Given the description of an element on the screen output the (x, y) to click on. 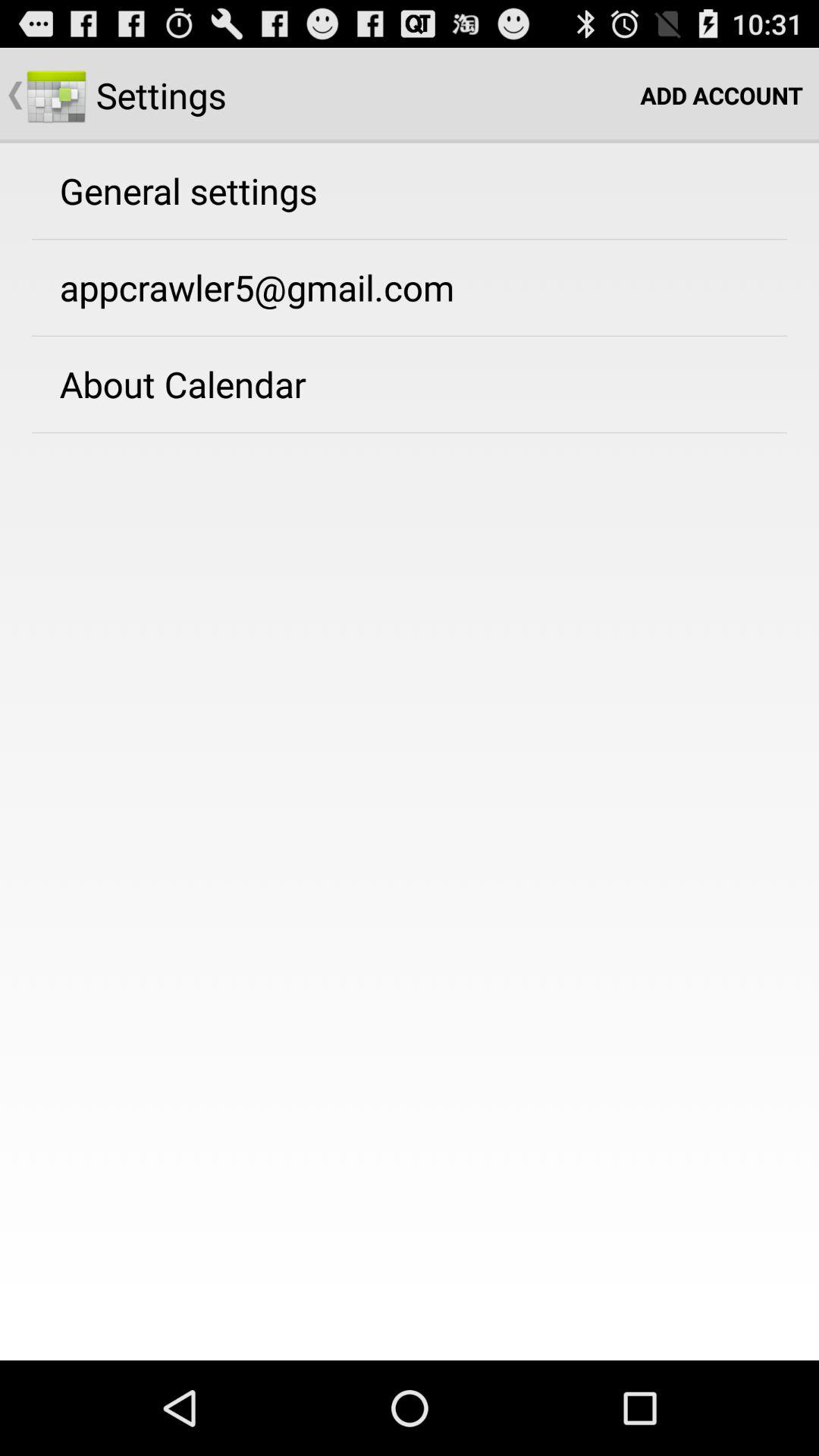
jump to the appcrawler5@gmail.com app (256, 287)
